Given the description of an element on the screen output the (x, y) to click on. 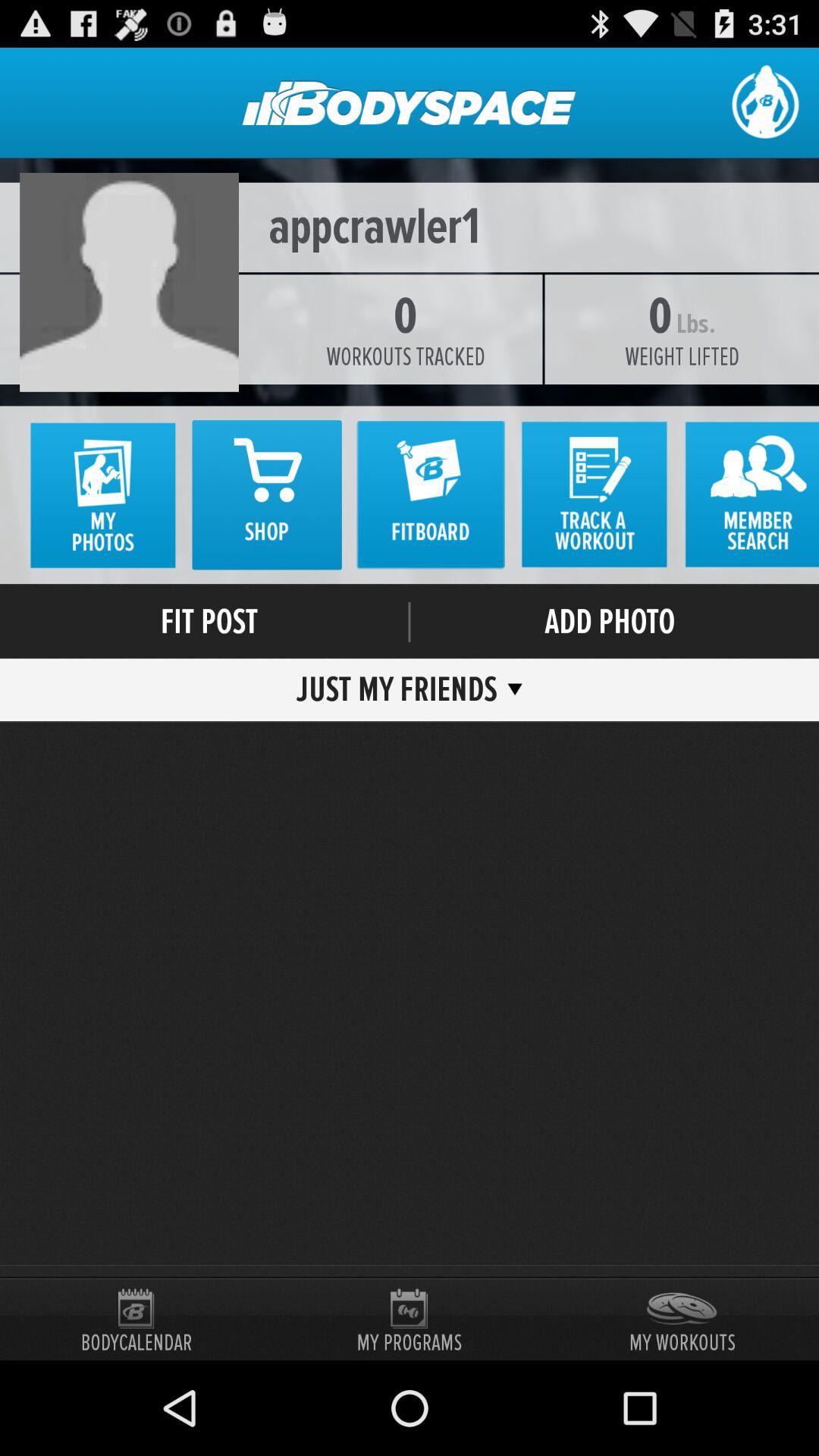
scroll until just my friends icon (401, 689)
